Given the description of an element on the screen output the (x, y) to click on. 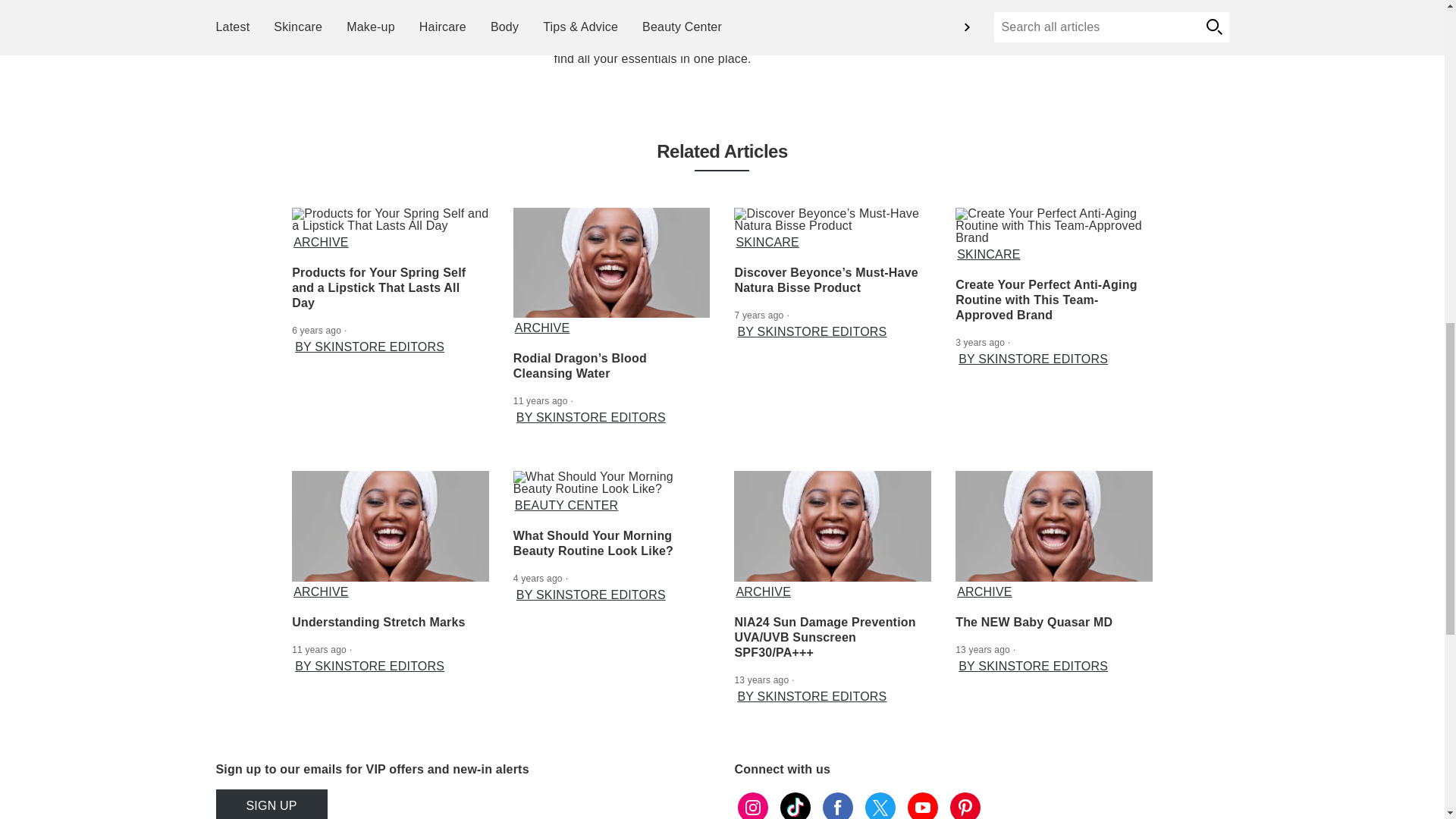
tiktok (794, 804)
instagram (751, 804)
SkinStore Editors (505, 2)
twitter (879, 804)
facebook (837, 804)
